Given the description of an element on the screen output the (x, y) to click on. 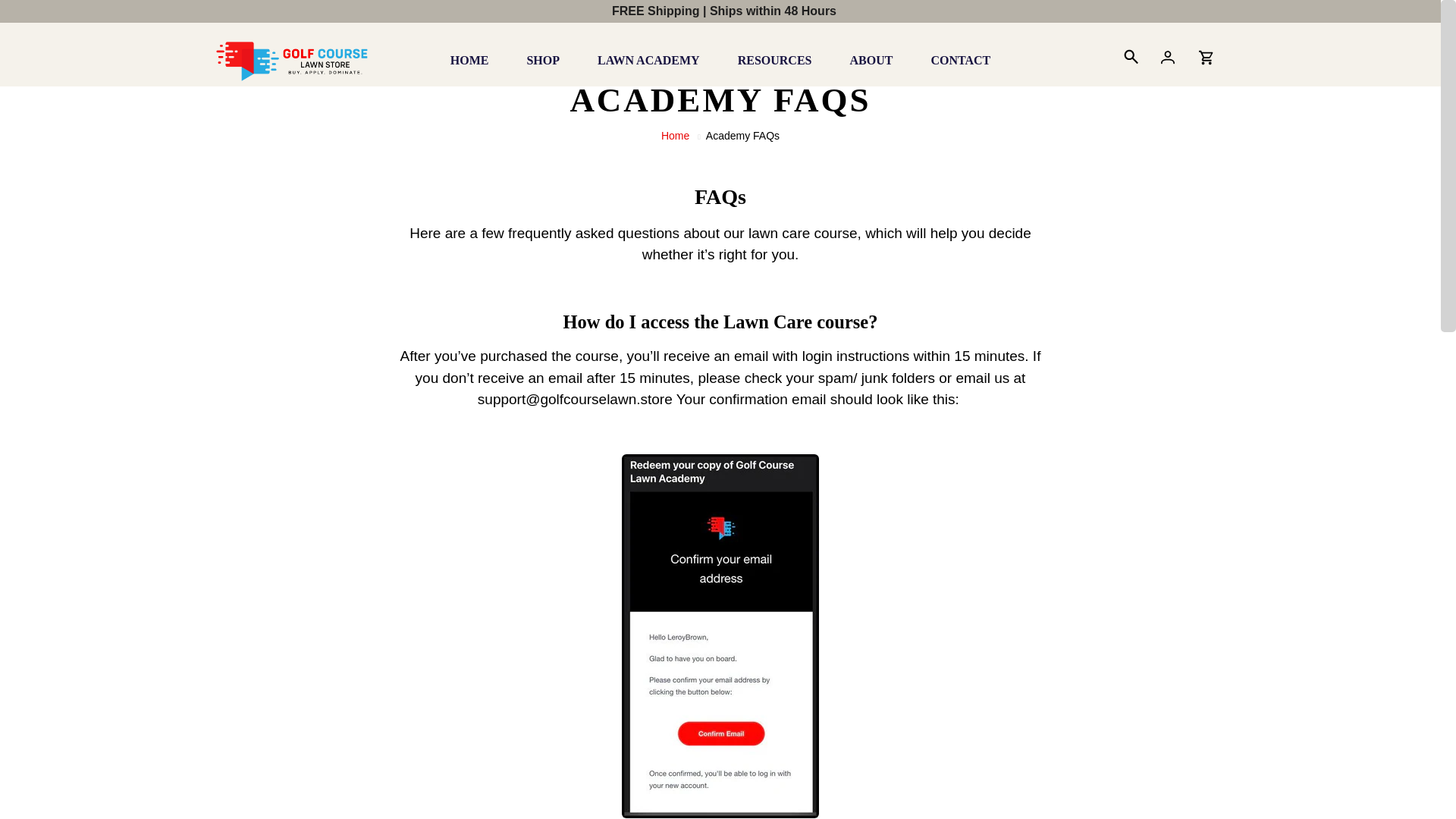
SHOP (542, 59)
RESOURCES (775, 59)
You have 0 items in your cart (1205, 59)
Search (1129, 59)
LAWN ACADEMY (648, 59)
HOME (469, 59)
My account (1167, 59)
ABOUT (870, 59)
CONTACT (960, 59)
Home (674, 135)
